Given the description of an element on the screen output the (x, y) to click on. 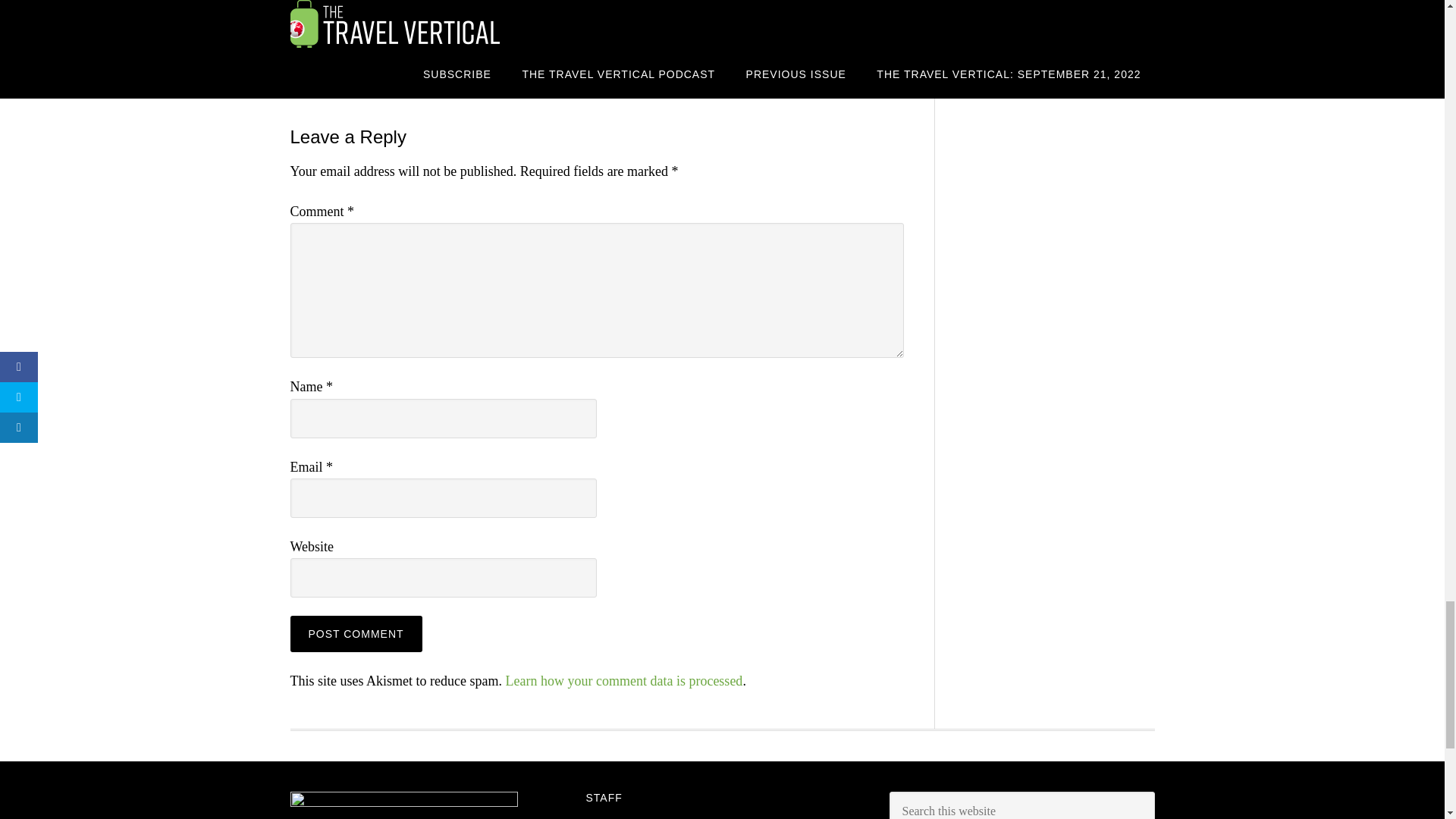
Amrita Gurney (394, 85)
Thought Leaders See Tomorrow (729, 85)
Inspiration Corner (588, 65)
Post Comment (355, 633)
DMOs (371, 65)
News and Views (737, 65)
eTourism Summit (436, 65)
Who You Know (853, 65)
See Tomorrow (610, 85)
Want to Start a Destination Podcast in 2020? Begin Here... (796, 14)
CrowdRiff (462, 85)
Interviews (665, 65)
Guest Post (512, 65)
